Given the description of an element on the screen output the (x, y) to click on. 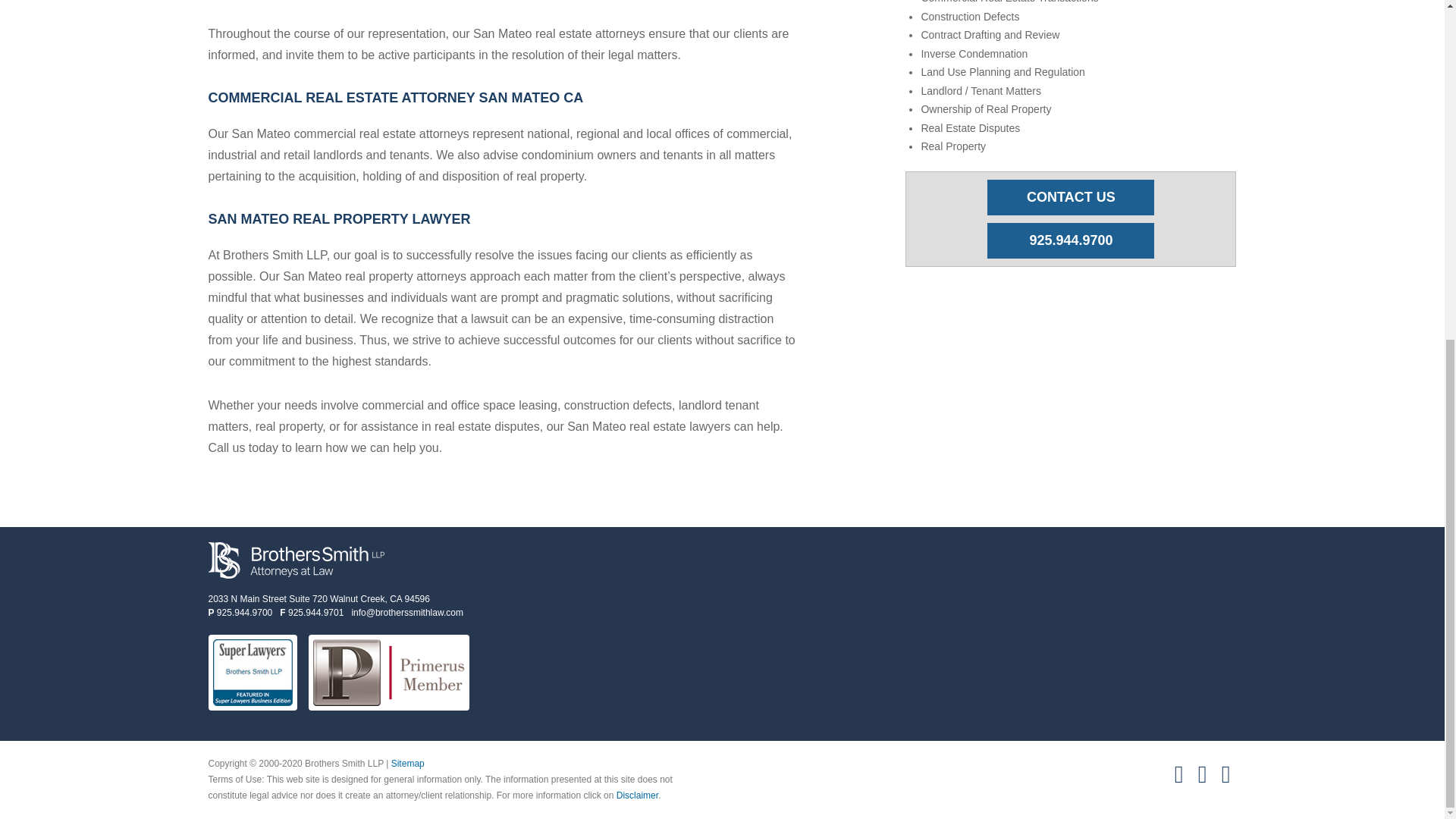
925.944.9700 (244, 612)
925.944.9700 (1070, 239)
CONTACT US (318, 598)
